Given the description of an element on the screen output the (x, y) to click on. 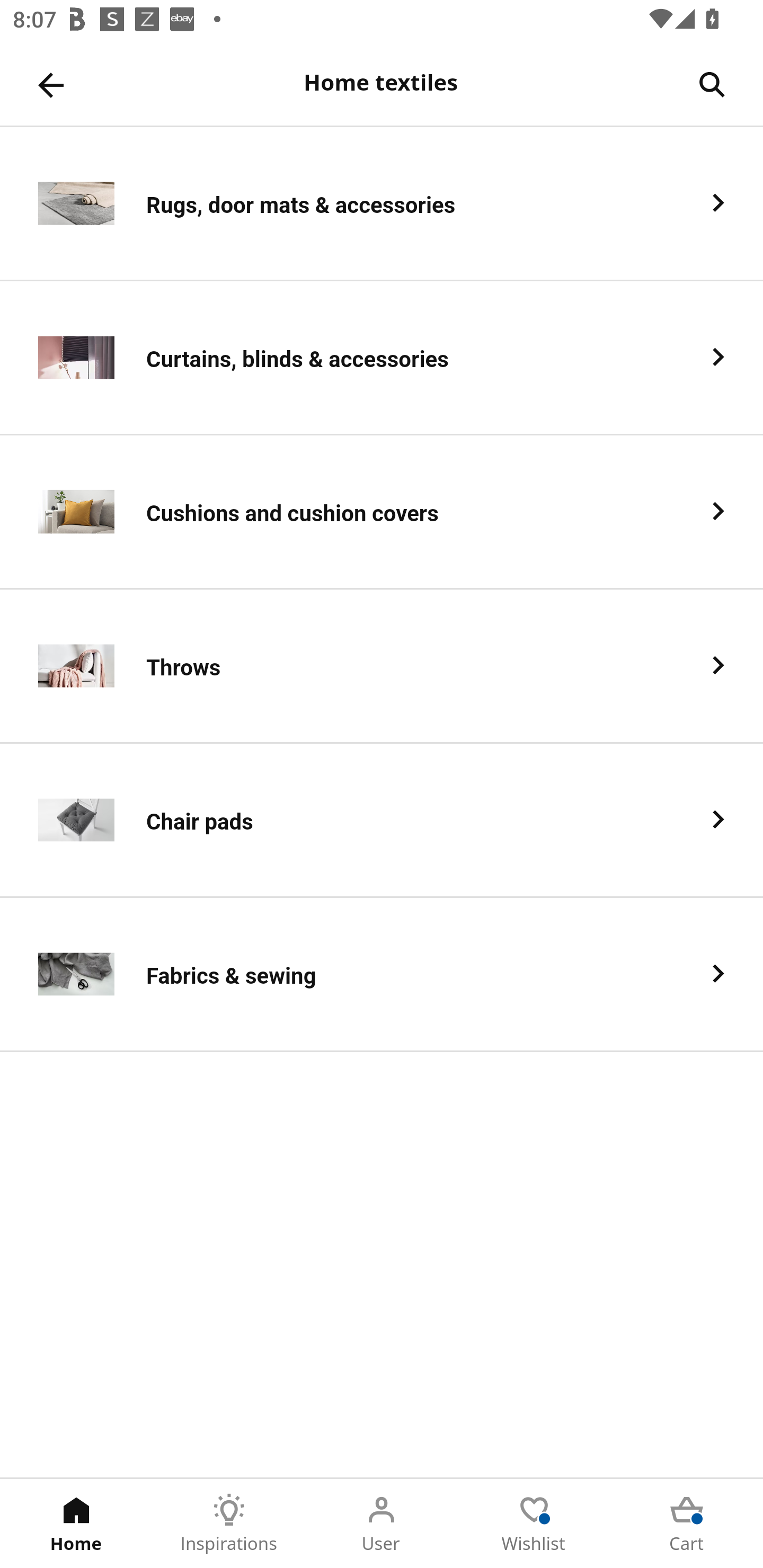
Rugs, door mats & accessories (381, 203)
Curtains, blinds & accessories (381, 357)
Cushions and cushion covers (381, 512)
Throws (381, 666)
Chair pads (381, 820)
Fabrics & sewing (381, 975)
Home
Tab 1 of 5 (76, 1522)
Inspirations
Tab 2 of 5 (228, 1522)
User
Tab 3 of 5 (381, 1522)
Wishlist
Tab 4 of 5 (533, 1522)
Cart
Tab 5 of 5 (686, 1522)
